Given the description of an element on the screen output the (x, y) to click on. 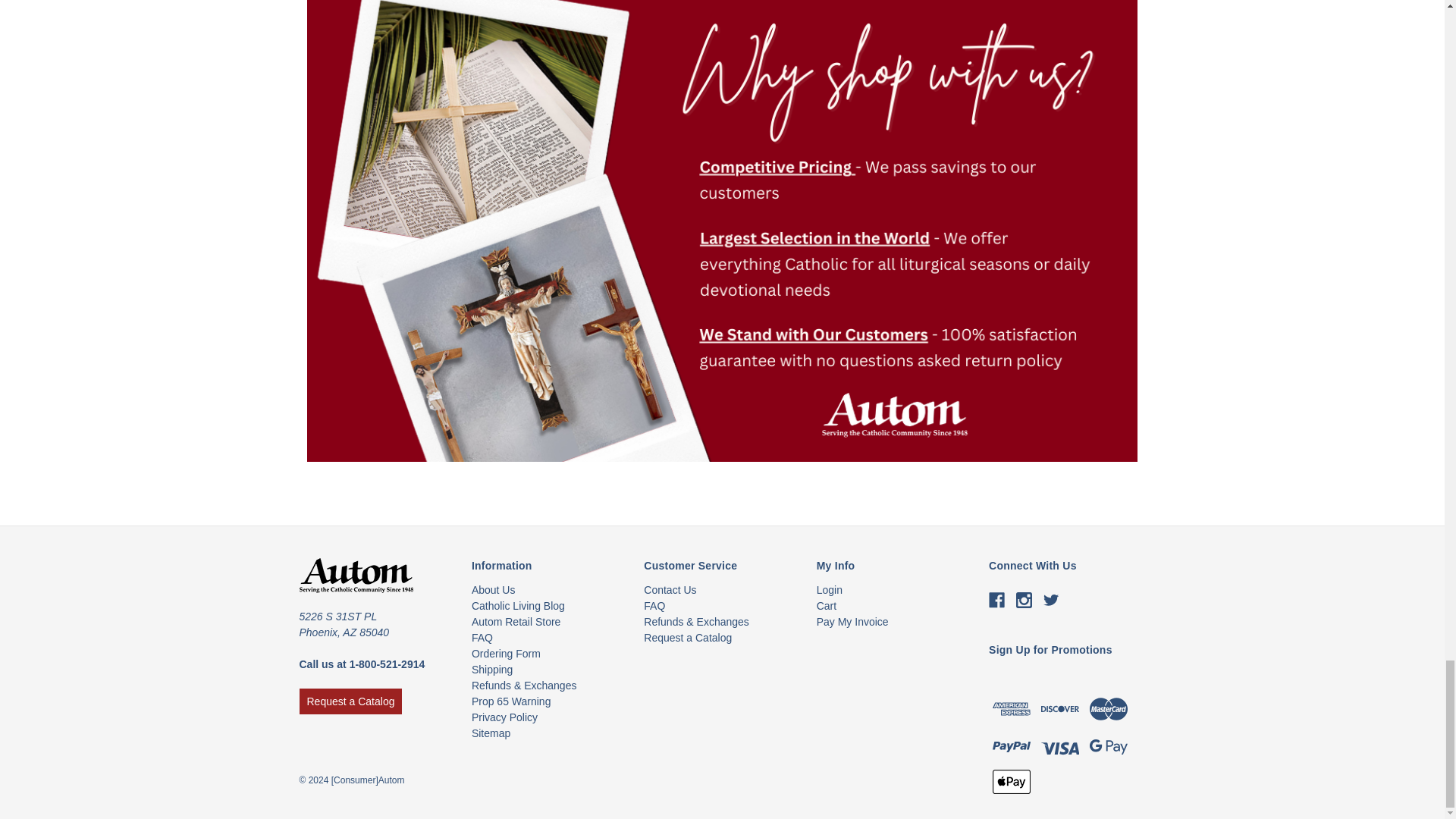
Request a Catalog (349, 701)
